Given the description of an element on the screen output the (x, y) to click on. 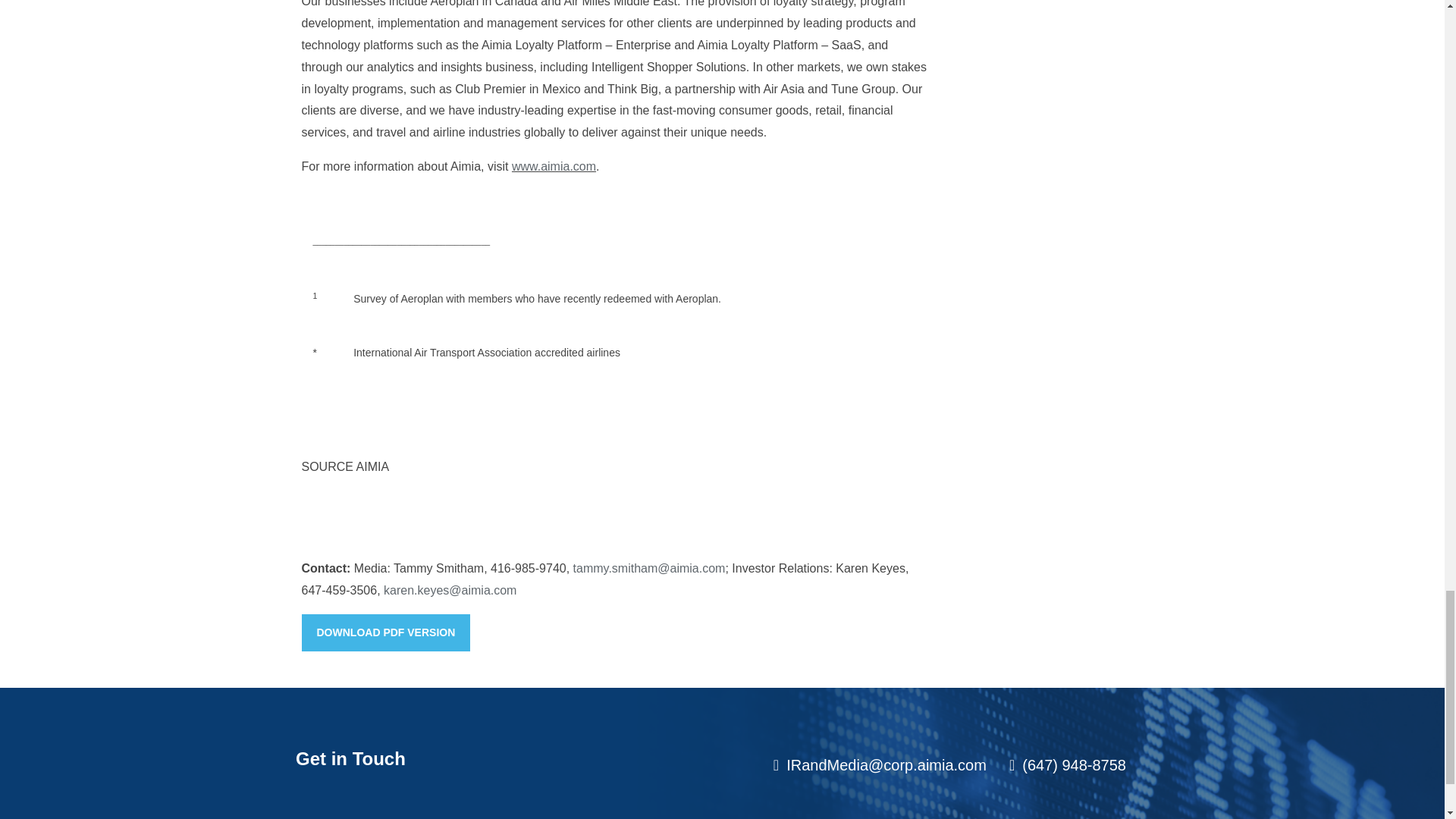
DOWNLOAD PDF VERSION (385, 632)
www.aimia.com (553, 165)
